Given the description of an element on the screen output the (x, y) to click on. 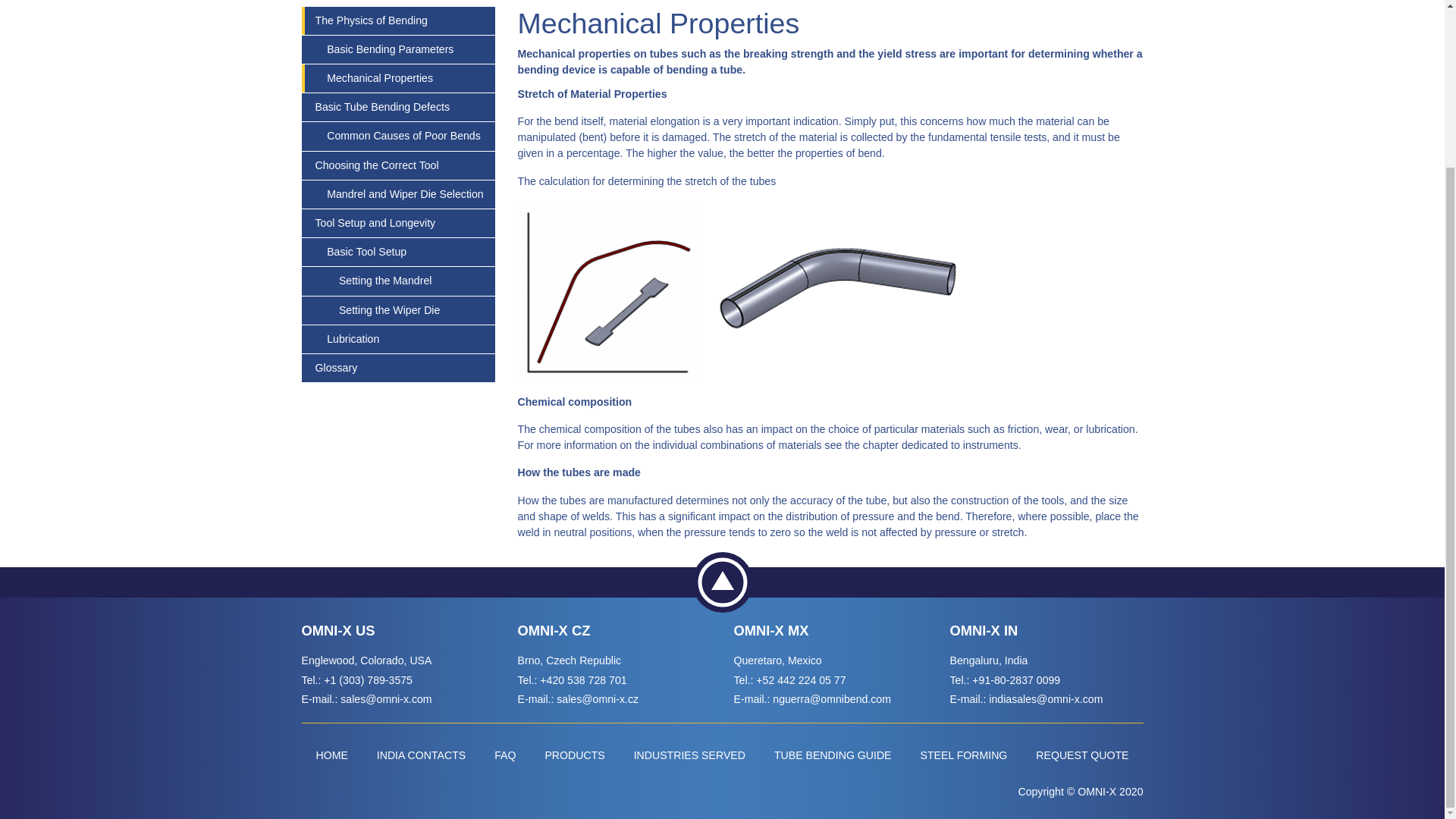
Glossary (399, 367)
    Mandrel and Wiper Die Selection (399, 194)
        Setting the Wiper Die (399, 310)
    Mechanical Properties (399, 78)
Choosing the Correct Tool (399, 165)
    Basic Bending Parameters (399, 49)
        Setting the Mandrel (399, 280)
    Lubrication (399, 338)
    Common Causes of Poor Bends (399, 135)
Basic Tube Bending Defects (399, 107)
    Basic Tool Setup (399, 252)
Tool Setup and Longevity (399, 223)
The Physics of Bending (399, 20)
